Given the description of an element on the screen output the (x, y) to click on. 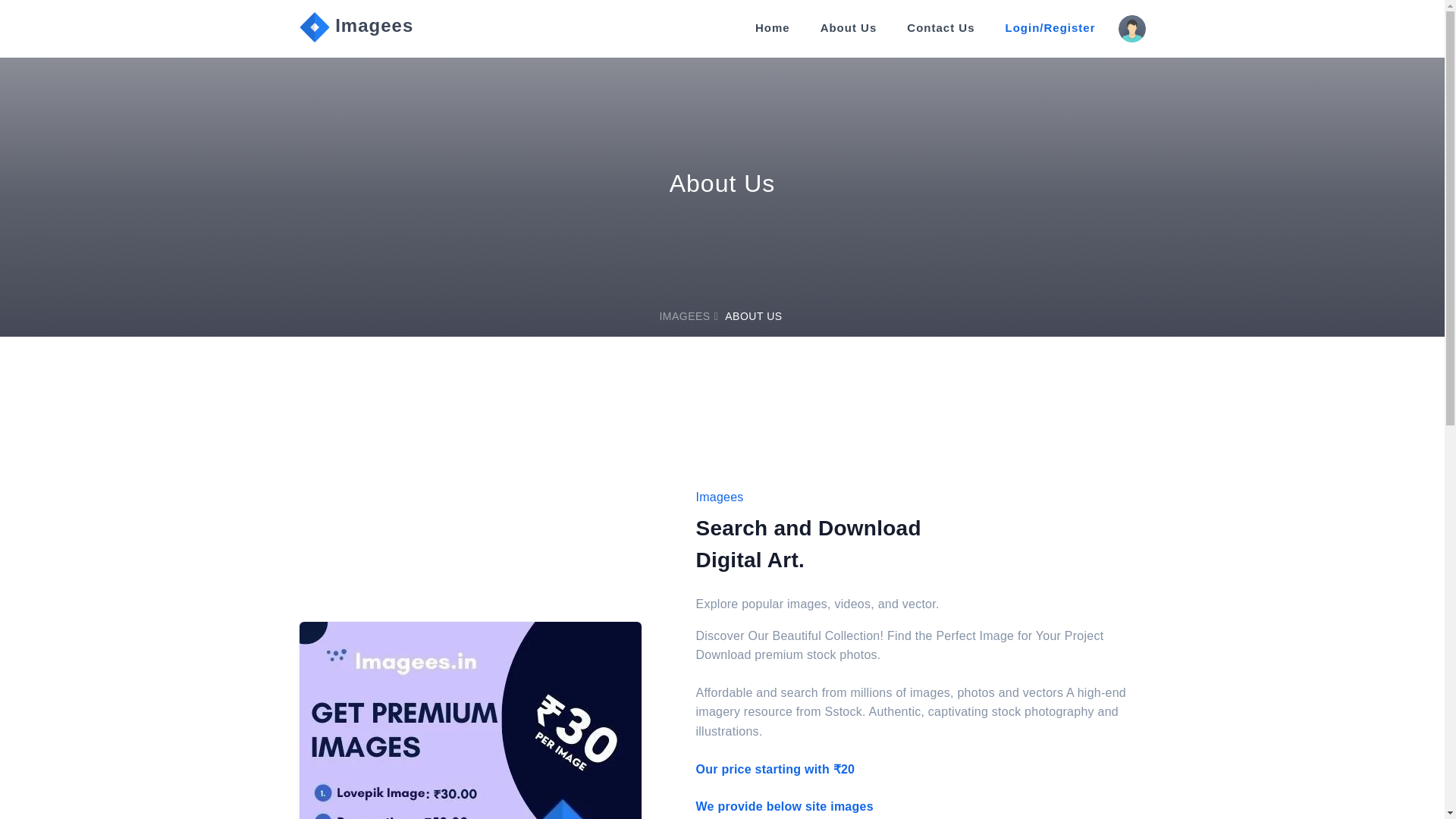
Contact Us (940, 28)
About Us (848, 28)
Imagees (355, 28)
Home (772, 28)
IMAGEES (684, 316)
